Given the description of an element on the screen output the (x, y) to click on. 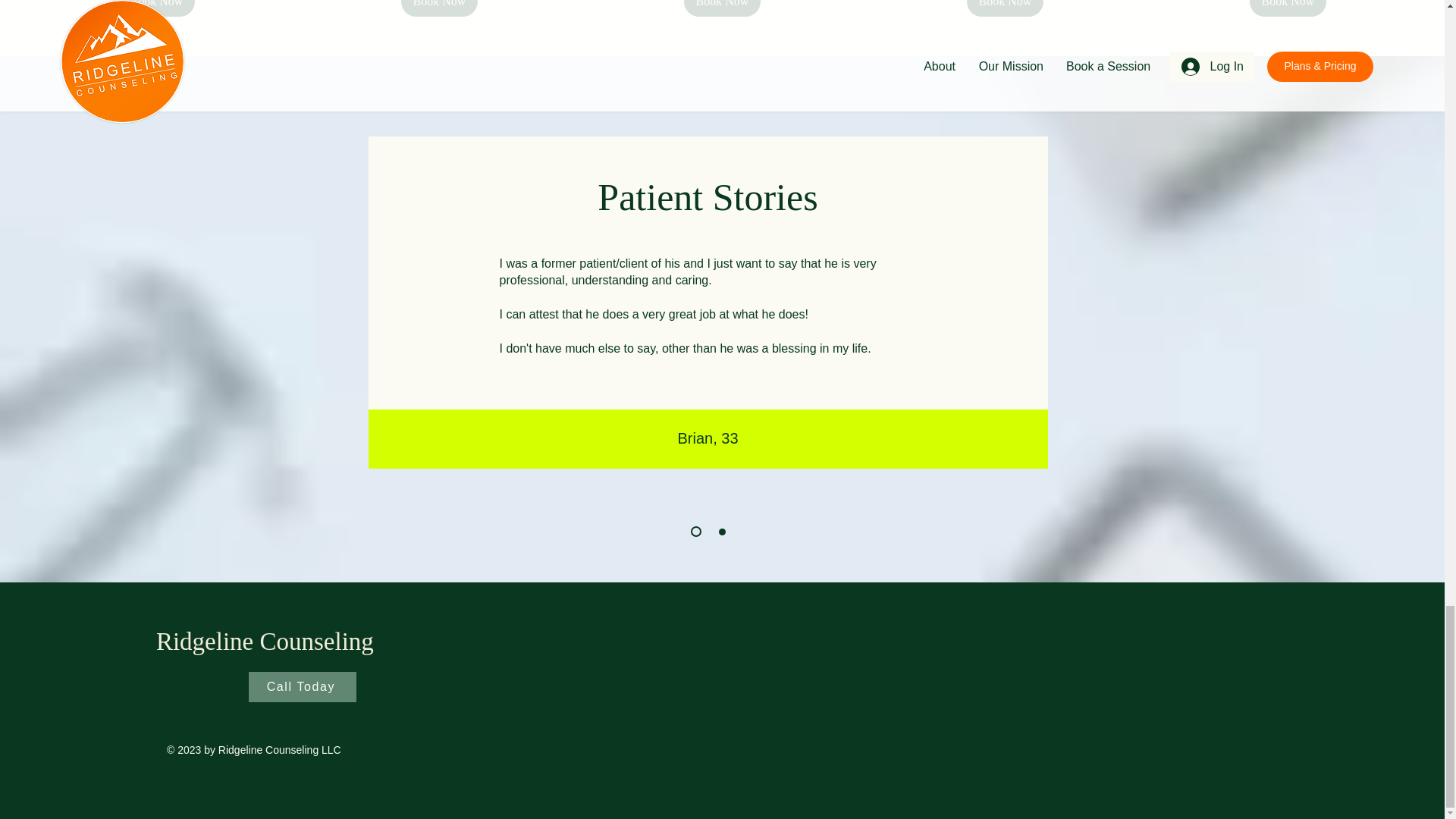
Book Now (722, 8)
Call Today (302, 686)
Book Now (440, 8)
Book Now (1287, 8)
Book Now (156, 8)
Book Now (1004, 8)
